Given the description of an element on the screen output the (x, y) to click on. 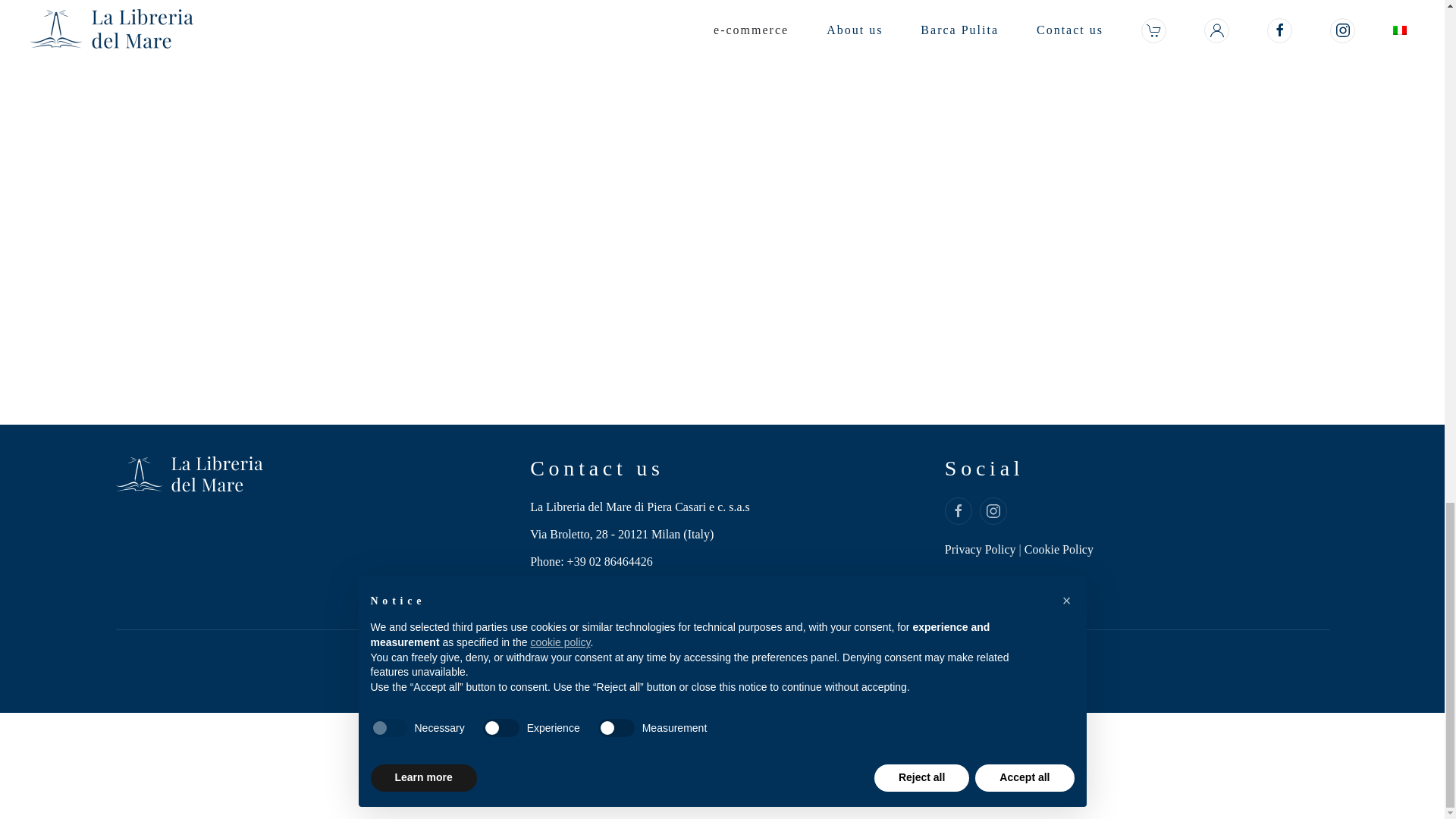
sviluppo web milano (722, 669)
La Libreria del Mare di Piera Casari e c. s.a.s (721, 506)
